Given the description of an element on the screen output the (x, y) to click on. 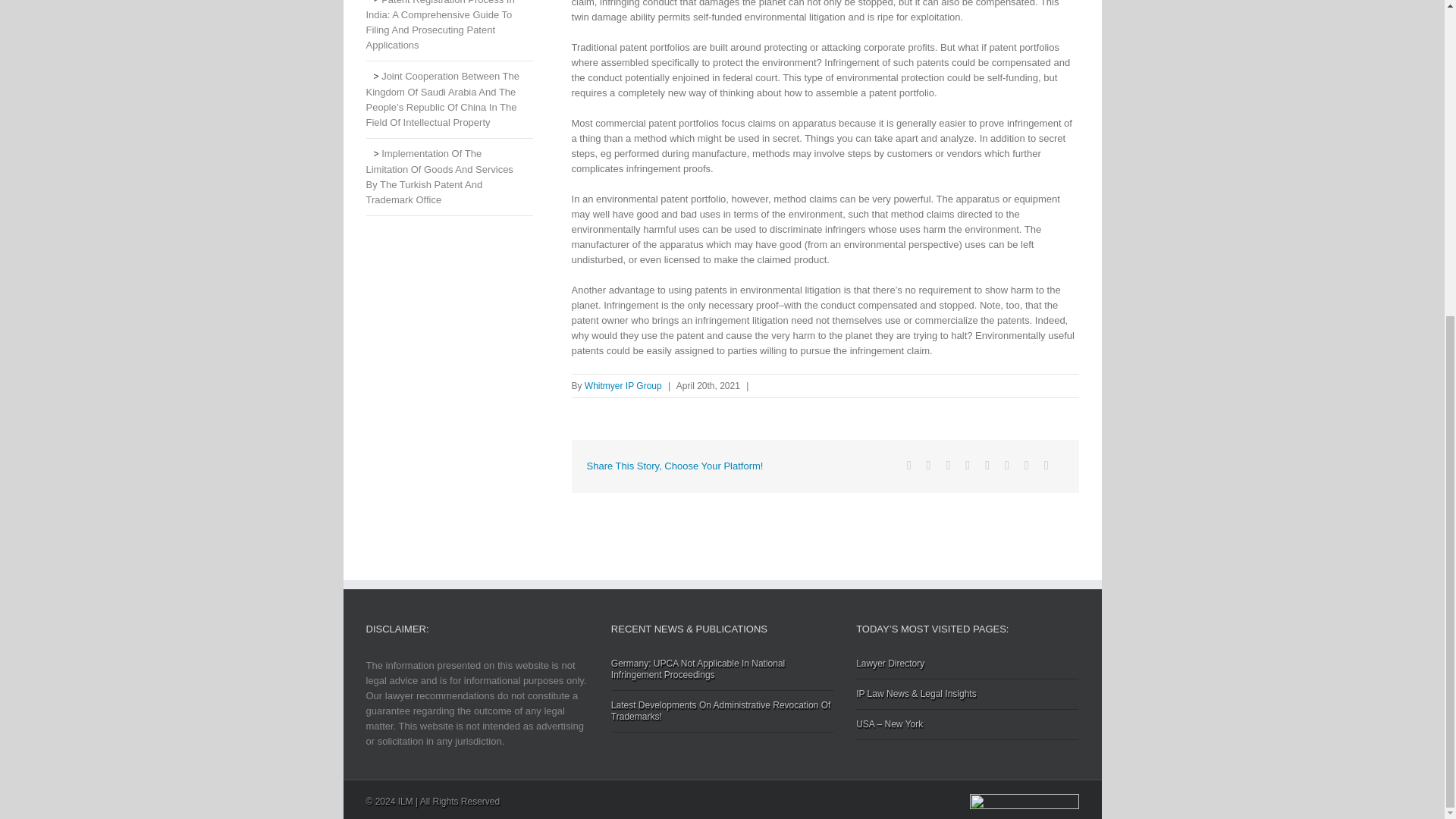
Whitmyer IP Group (623, 385)
Lawyer Directory (967, 668)
Posts by Whitmyer IP Group (623, 385)
